Given the description of an element on the screen output the (x, y) to click on. 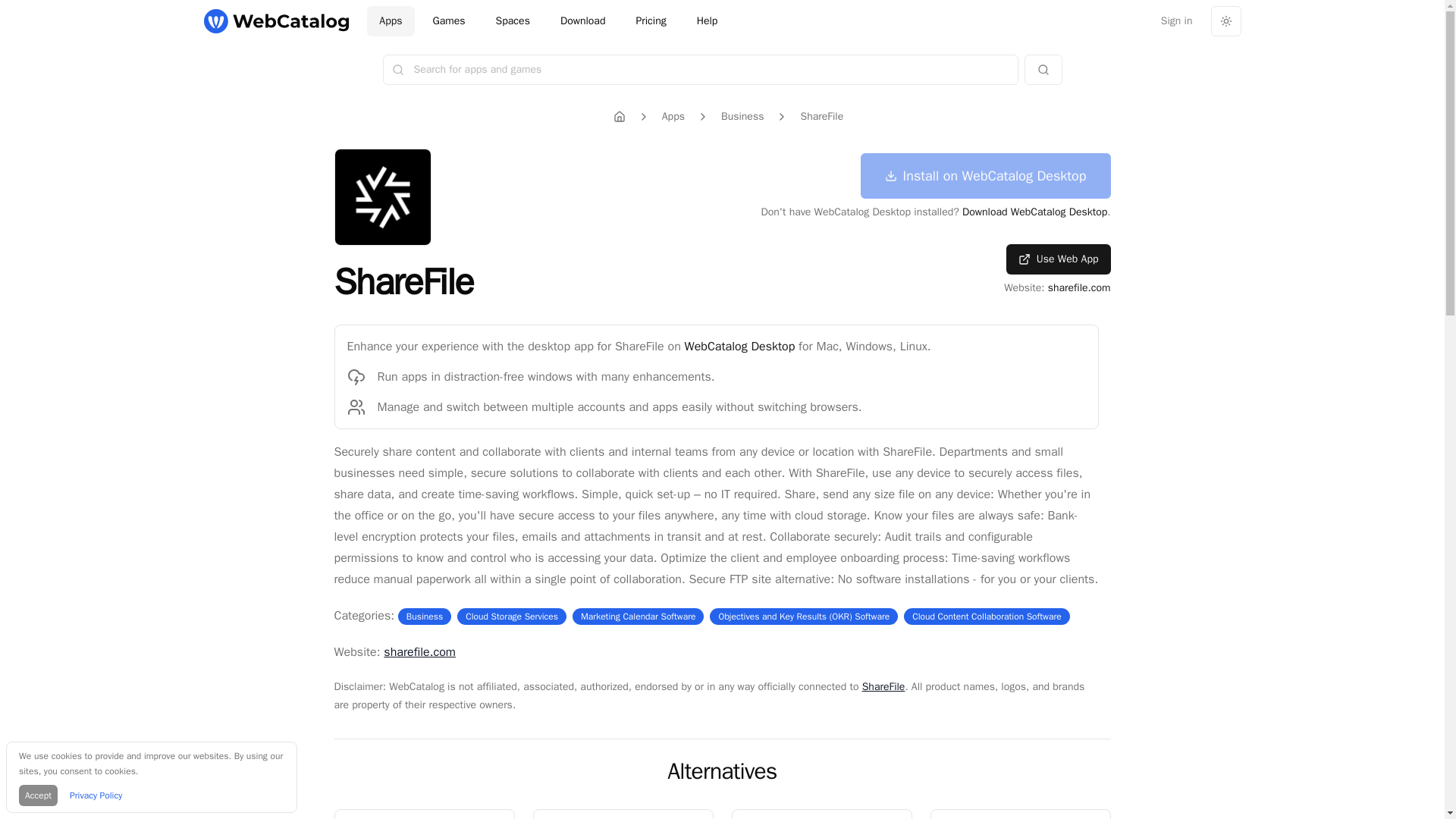
Cloud Content Collaboration Software (986, 616)
Business (741, 116)
Cloud Storage Services (511, 616)
Sign in (1176, 20)
Business (424, 616)
Marketing Calendar Software (637, 616)
Alternatives (721, 770)
Apps (389, 20)
Spaces (423, 814)
Install on WebCatalog Desktop (512, 20)
ShareFile (985, 176)
Help (820, 814)
